Given the description of an element on the screen output the (x, y) to click on. 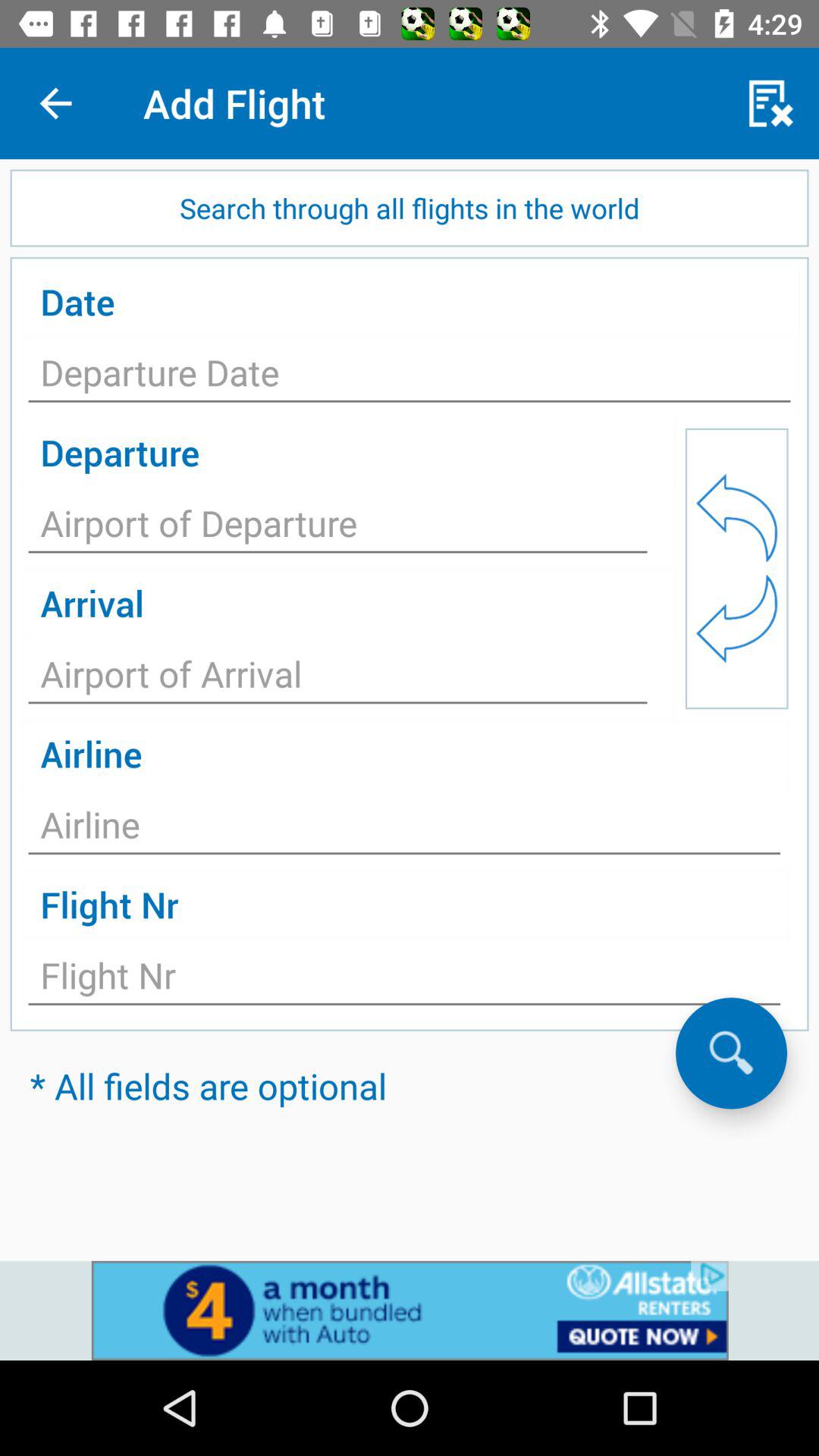
go to advertisement (409, 1310)
